Given the description of an element on the screen output the (x, y) to click on. 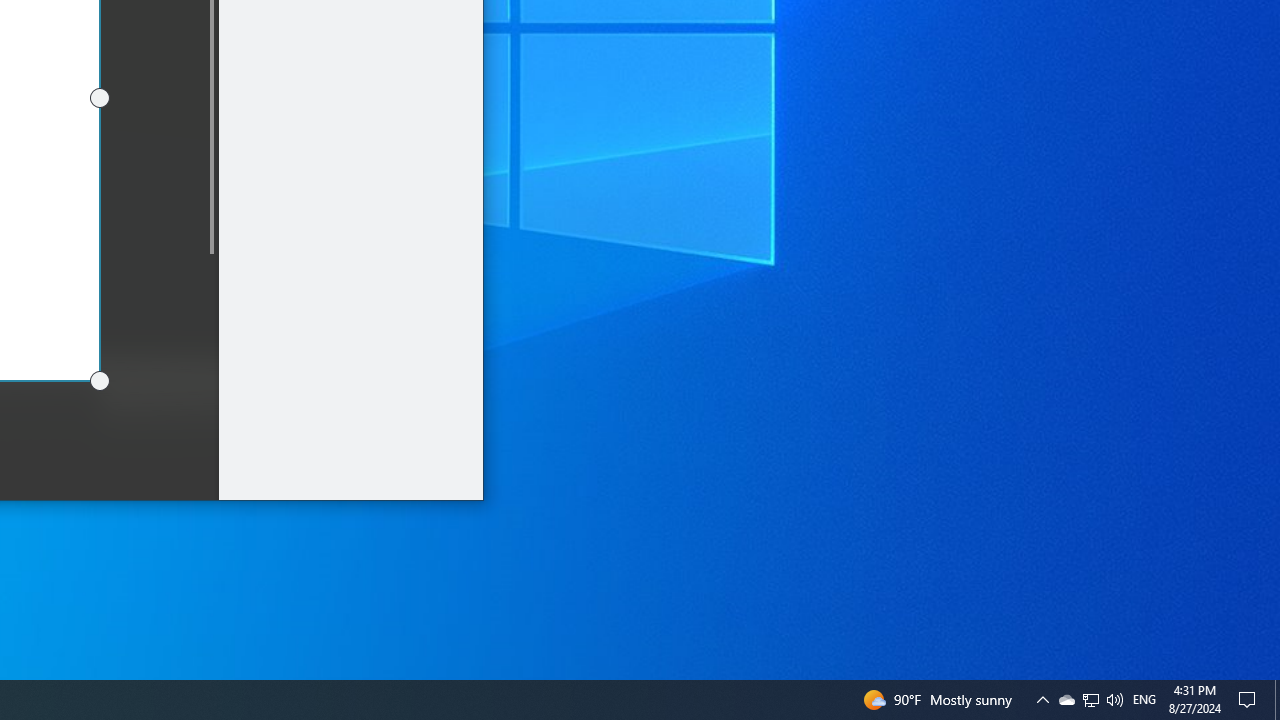
Vertical Large Increase (210, 369)
Tray Input Indicator - English (United States) (1144, 699)
